Given the description of an element on the screen output the (x, y) to click on. 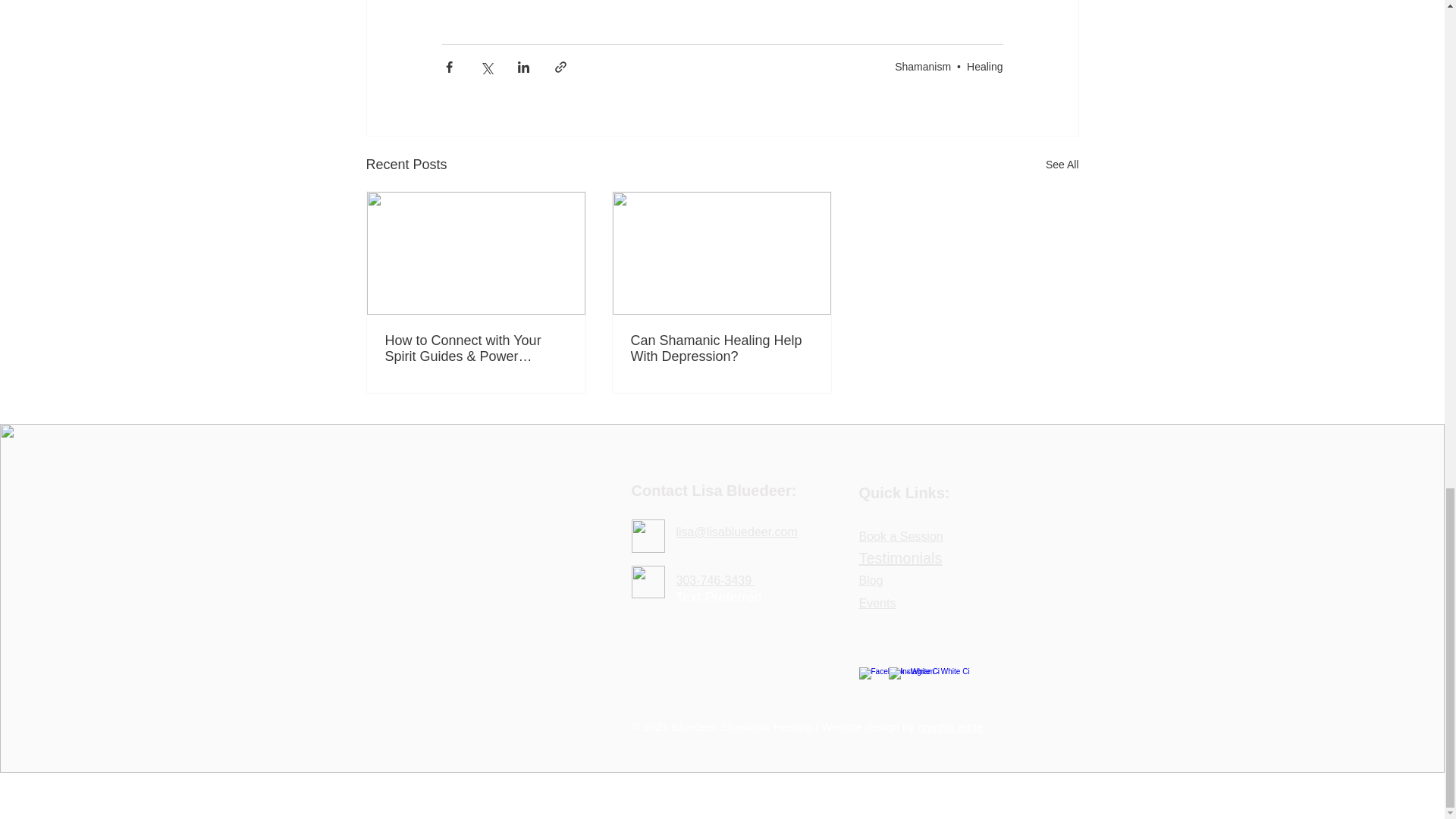
graphic edge (950, 726)
See All (1061, 164)
Healing (984, 66)
Book a Session (900, 535)
Shamanism (922, 66)
Testimonials (900, 557)
Events (877, 601)
Blog (870, 579)
Can Shamanic Healing Help With Depression? (721, 348)
303-746-3439  (716, 579)
